Given the description of an element on the screen output the (x, y) to click on. 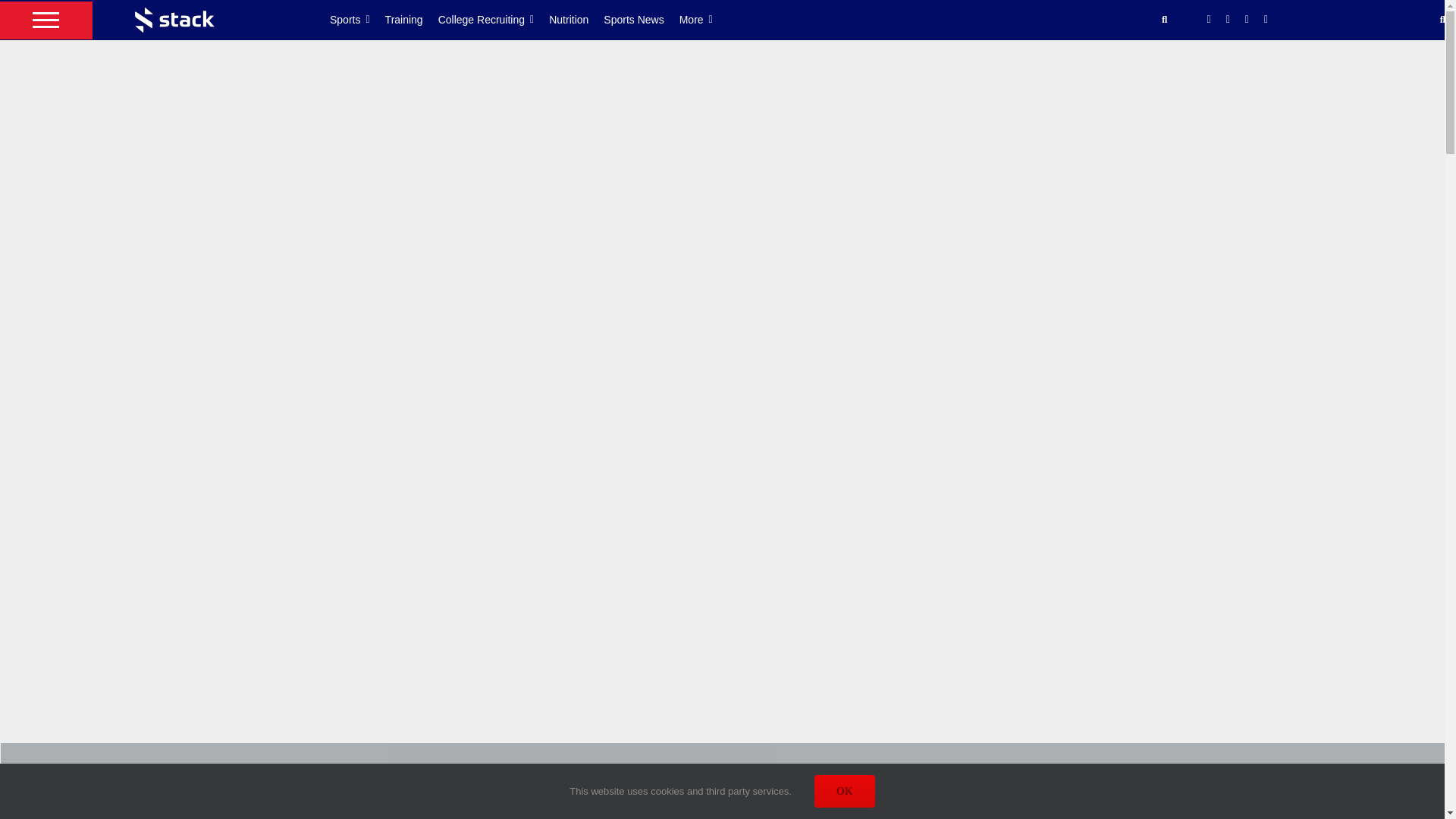
Nutrition (576, 19)
College Recruiting (494, 19)
More (703, 19)
Sports (357, 19)
Training (411, 19)
Sports News (641, 19)
